Given the description of an element on the screen output the (x, y) to click on. 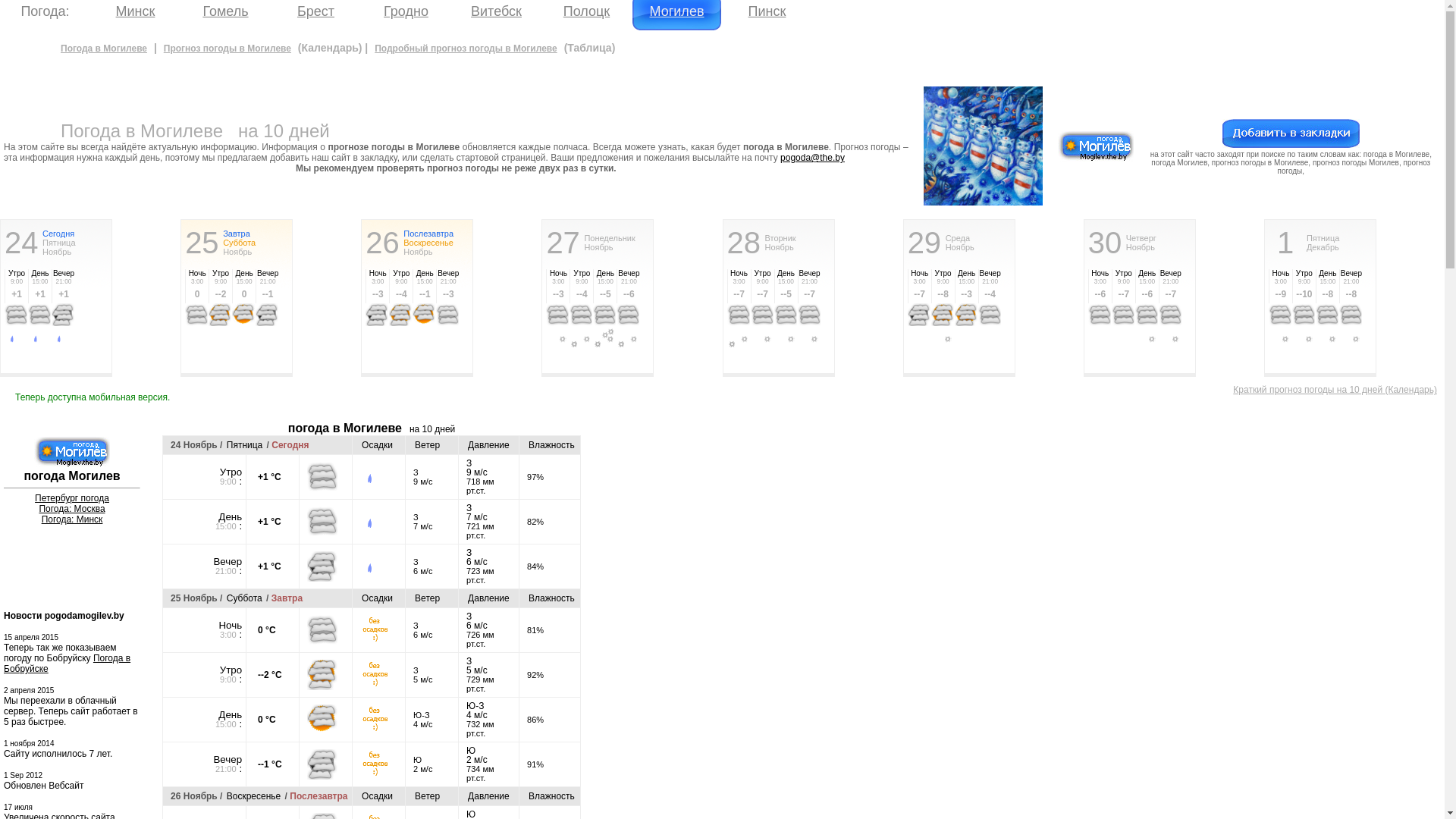
pogoda@the.by Element type: text (812, 157)
